Given the description of an element on the screen output the (x, y) to click on. 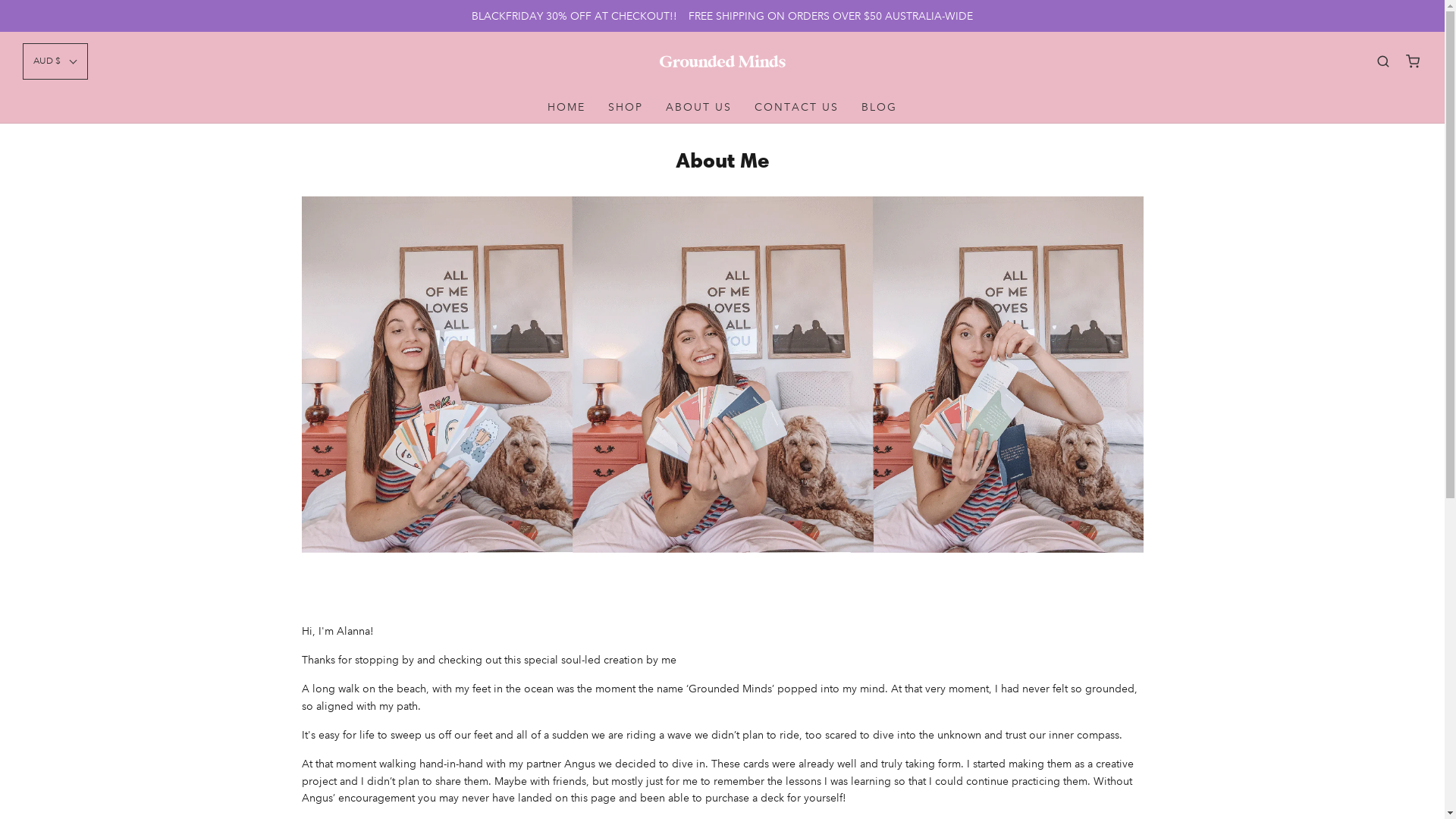
CONTACT US Element type: text (796, 106)
AUD $ Element type: text (54, 60)
Cart Element type: hover (1412, 61)
Search Element type: hover (1383, 61)
ABOUT US Element type: text (698, 106)
HOME Element type: text (566, 106)
BLOG Element type: text (879, 106)
SHOP Element type: text (625, 106)
